Given the description of an element on the screen output the (x, y) to click on. 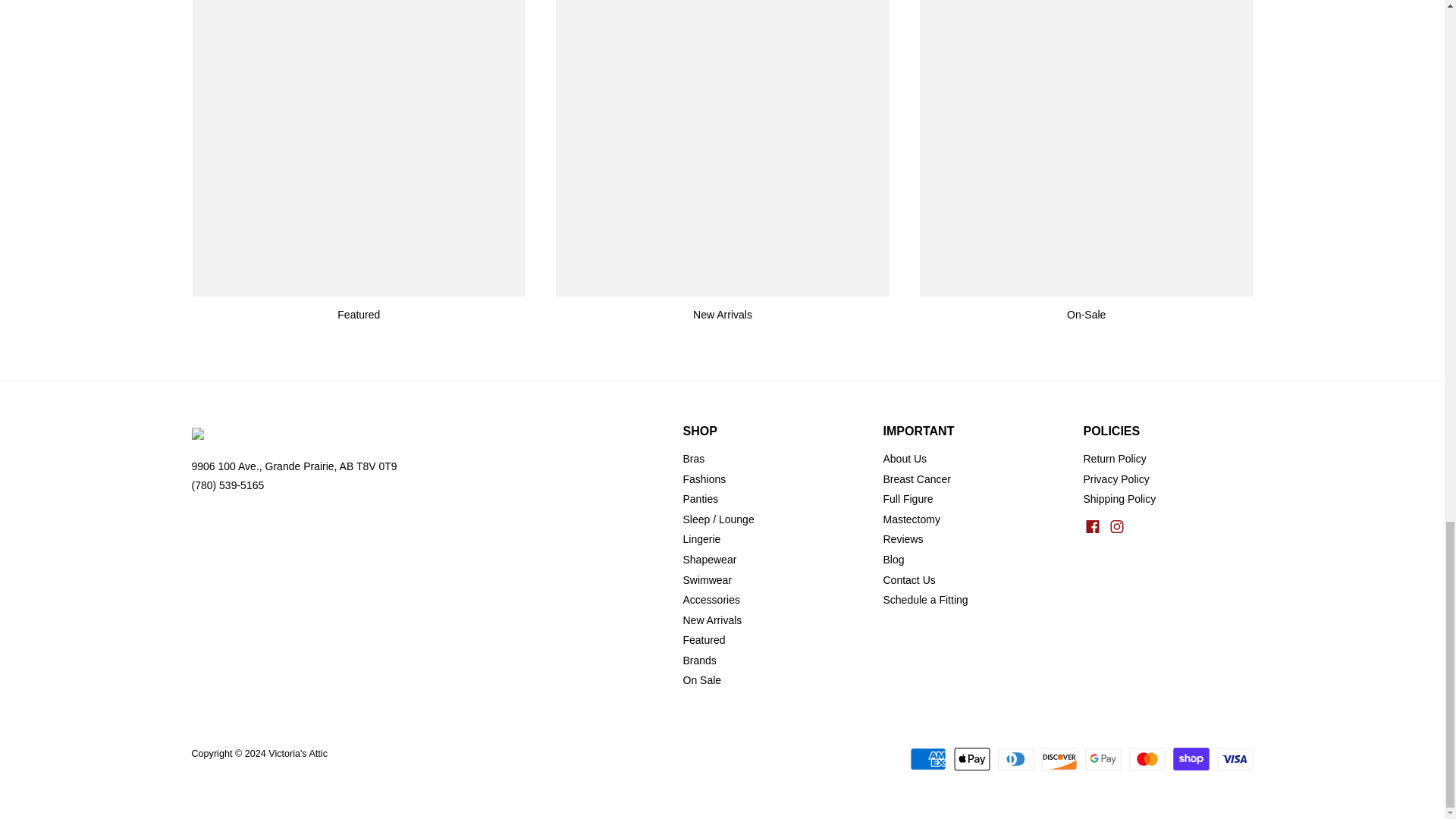
Facebook (1091, 526)
American Express (928, 758)
Visa (1233, 758)
Discover (1059, 758)
tel:17805395165 (226, 485)
Victoria's Attic Google Page (293, 466)
Shop Pay (1191, 758)
Diners Club (1015, 758)
Apple Pay (971, 758)
Mastercard (1147, 758)
